Given the description of an element on the screen output the (x, y) to click on. 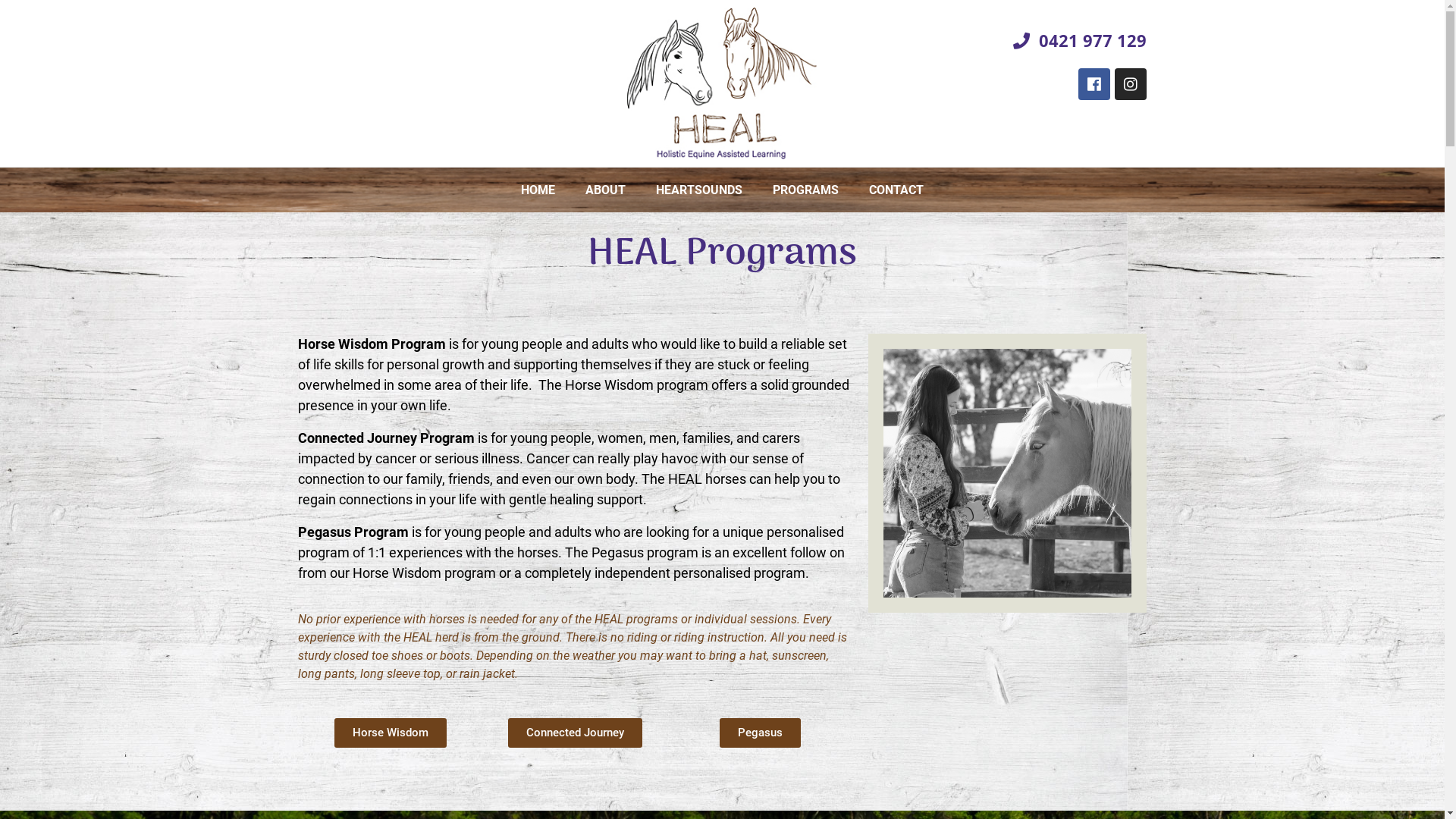
Pegasus Element type: text (759, 732)
0421 977 129 Element type: text (1009, 40)
Horse Wisdom Element type: text (390, 732)
HOME Element type: text (537, 189)
PROGRAMS Element type: text (805, 189)
Connected Journey Element type: text (575, 732)
ABOUT Element type: text (605, 189)
CONTACT Element type: text (895, 189)
HEARTSOUNDS Element type: text (698, 189)
